Given the description of an element on the screen output the (x, y) to click on. 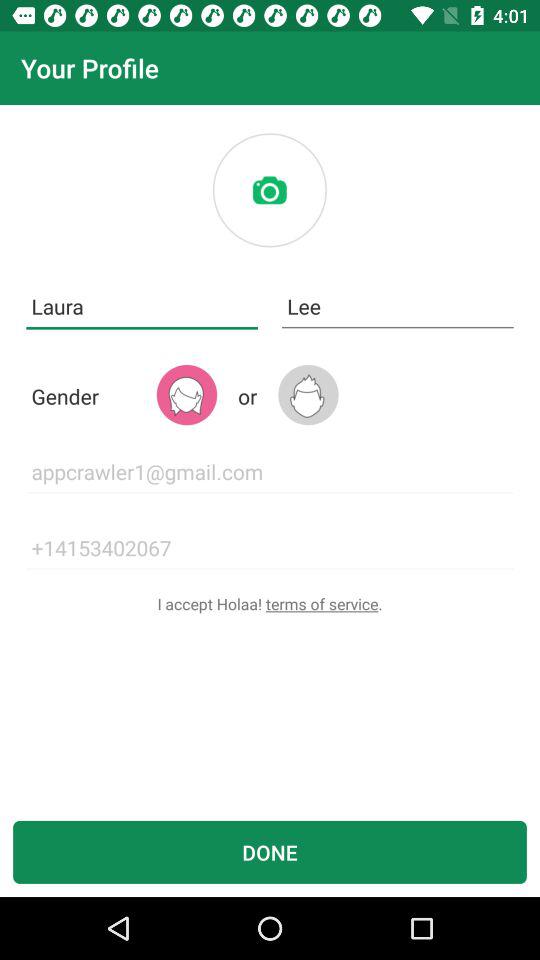
insert photo here (269, 190)
